Given the description of an element on the screen output the (x, y) to click on. 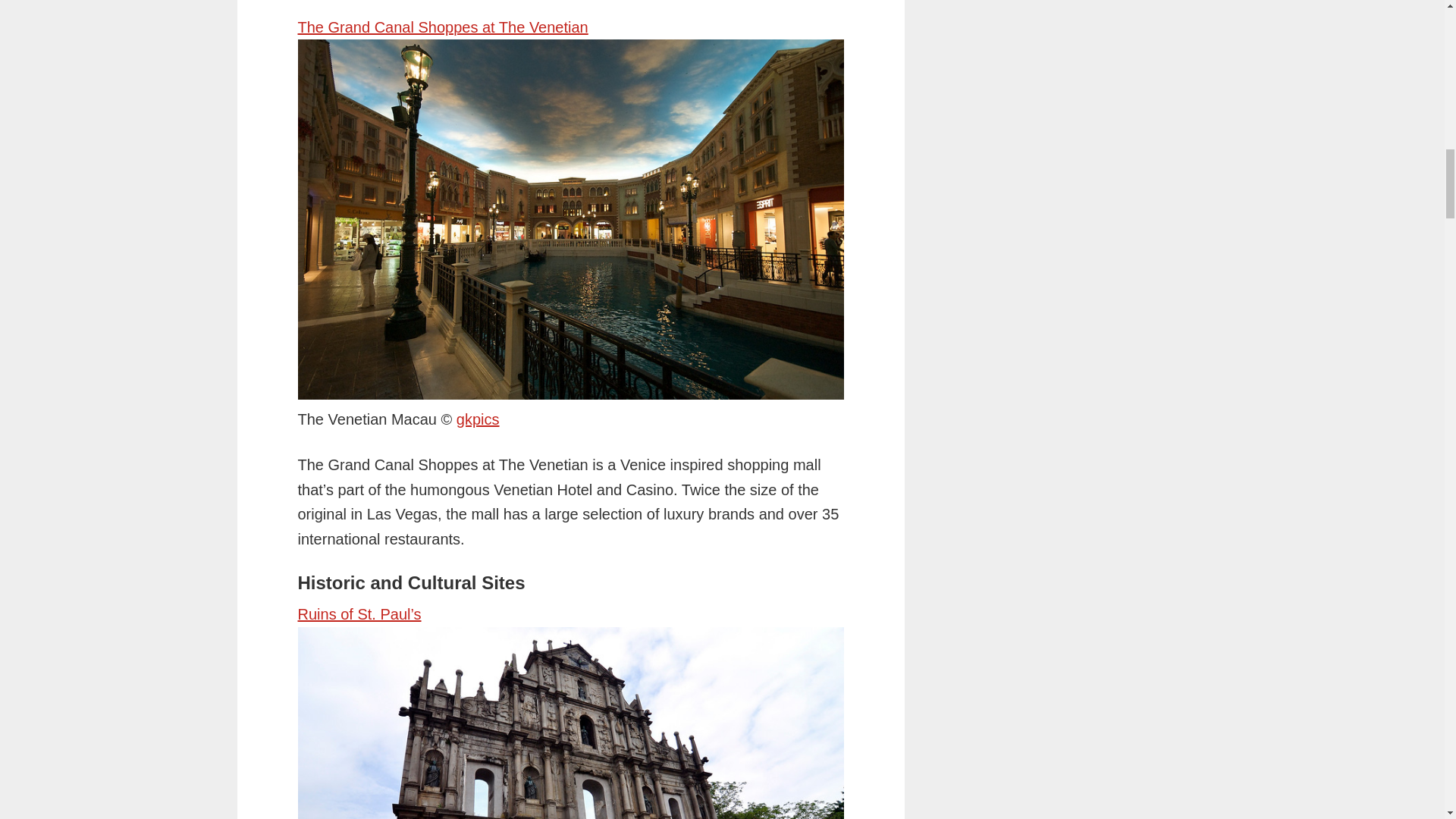
The Venetian Macau (478, 419)
gkpics (478, 419)
The Grand Canal Shoppes at The Venetian (442, 27)
